Given the description of an element on the screen output the (x, y) to click on. 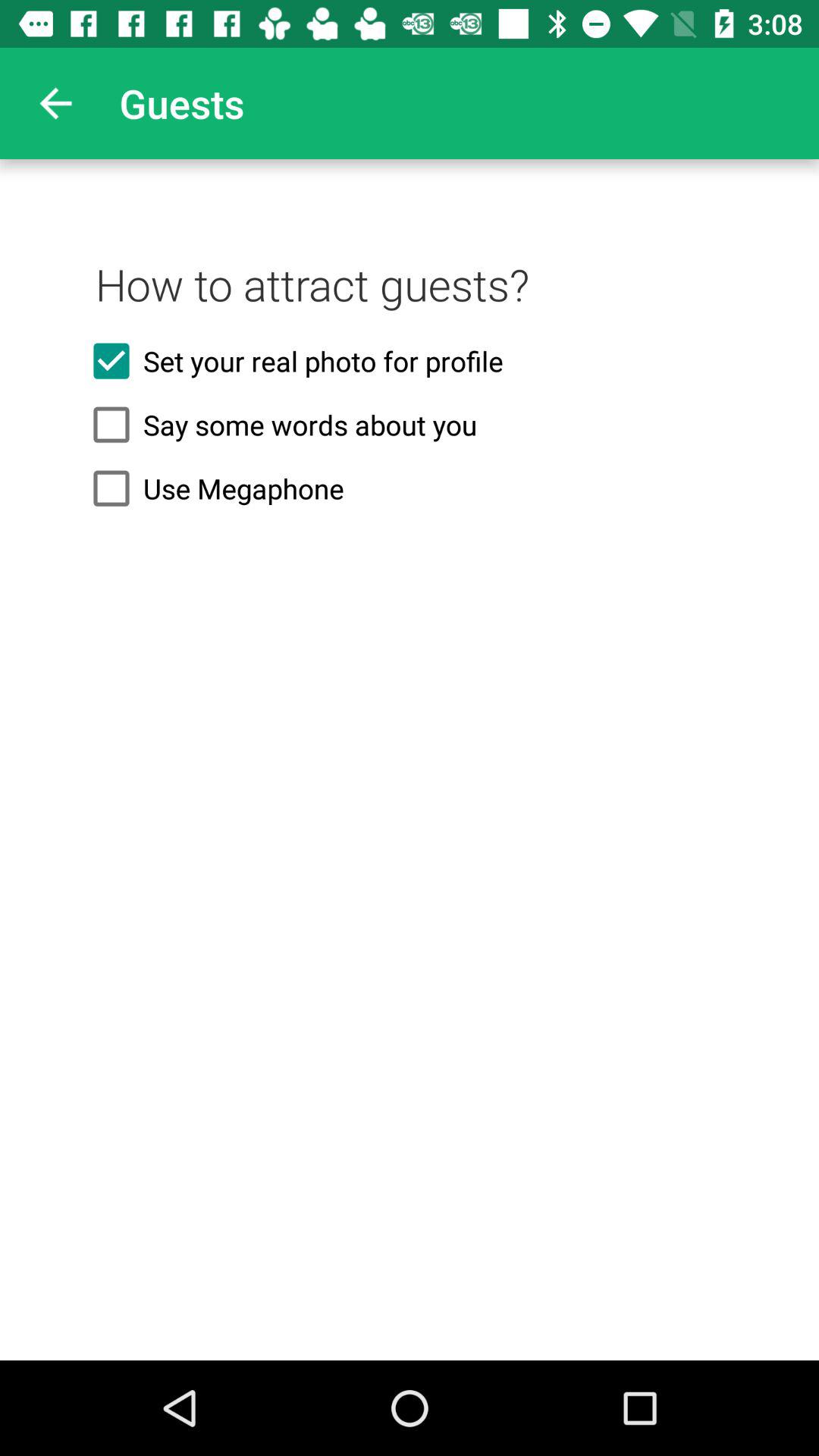
choose icon above say some words (409, 361)
